Given the description of an element on the screen output the (x, y) to click on. 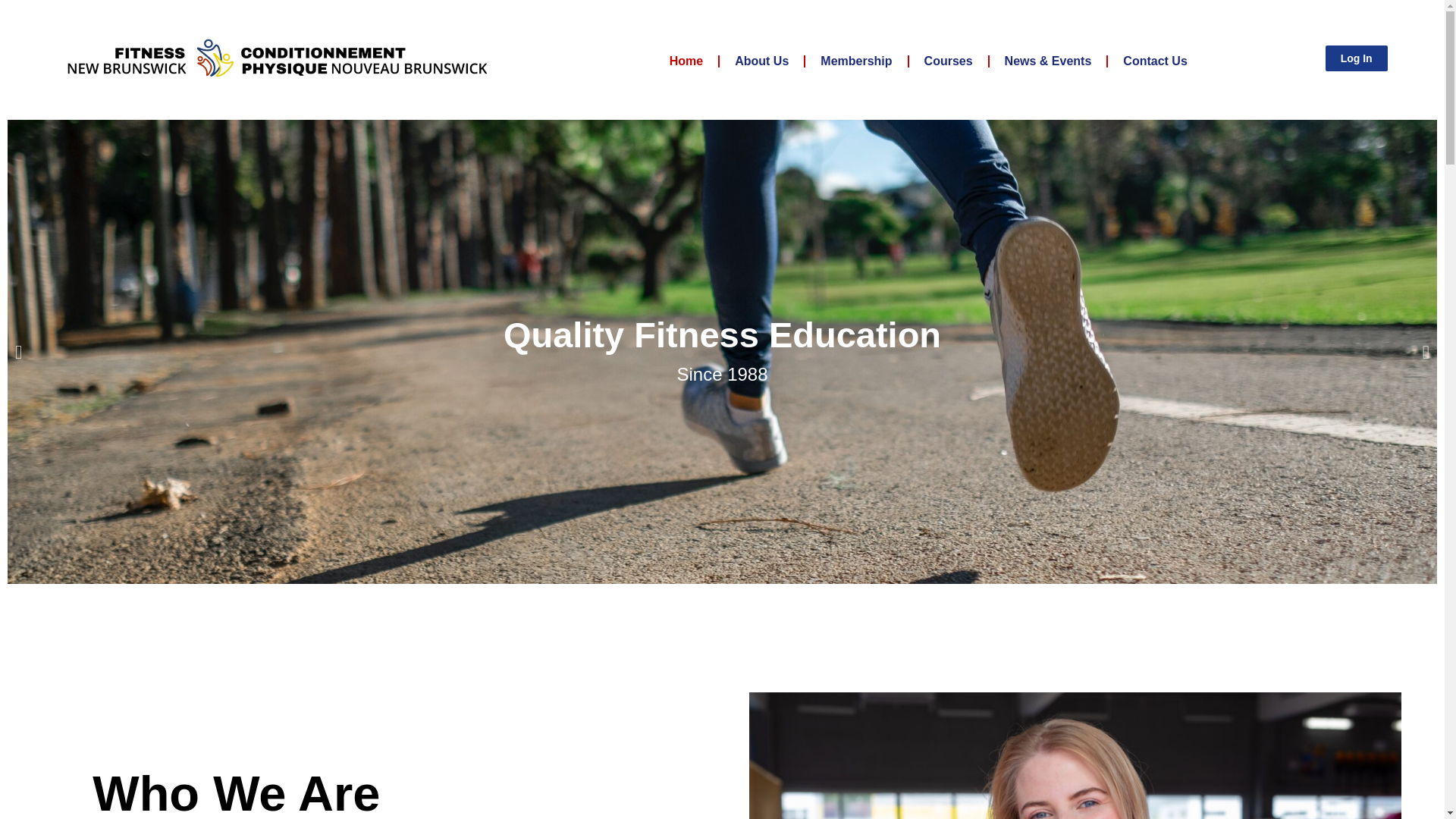
About Us (761, 61)
Contact Us (1155, 61)
Membership (856, 61)
Home (685, 61)
Courses (948, 61)
